Given the description of an element on the screen output the (x, y) to click on. 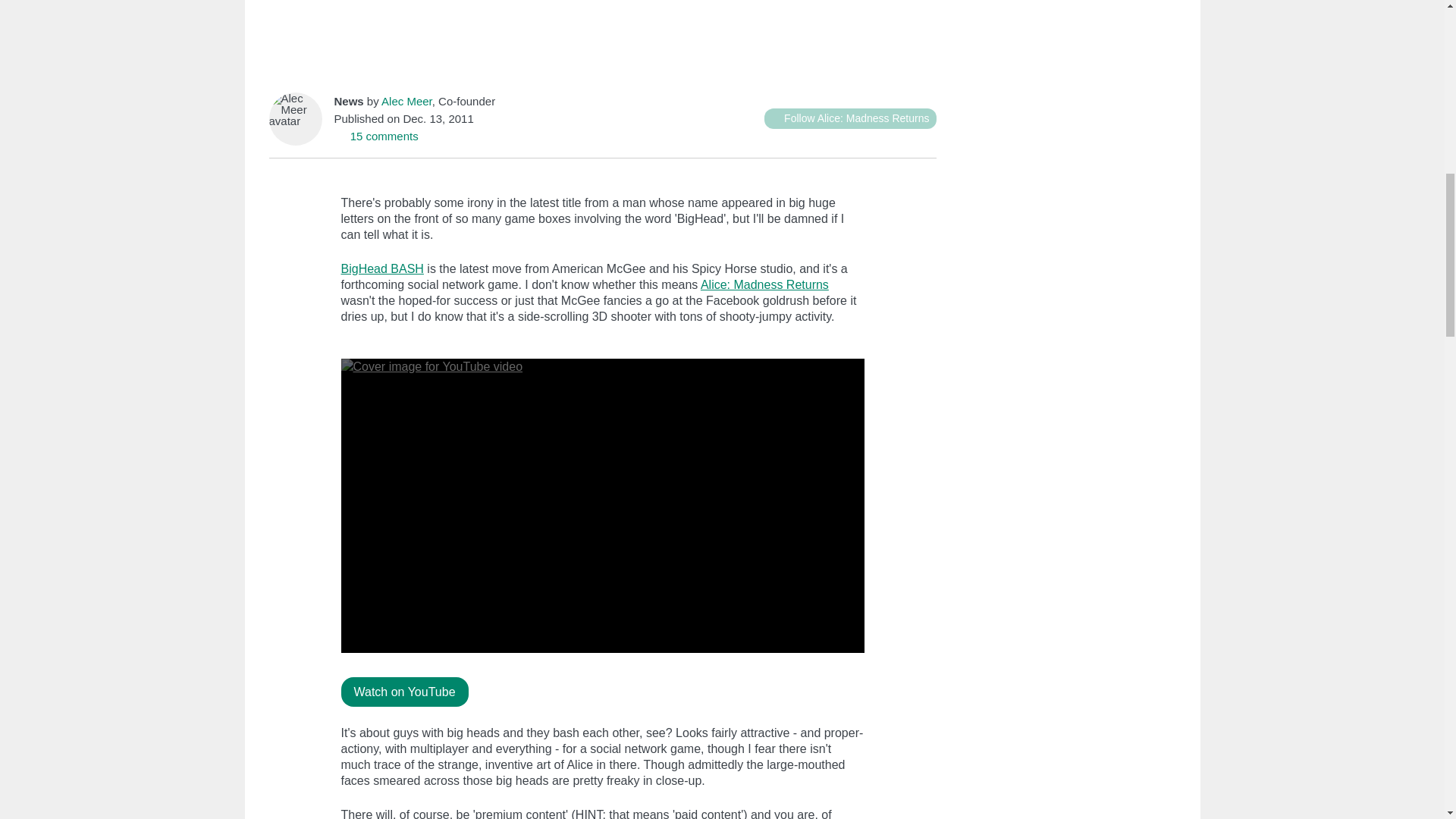
BigHead BASH (381, 268)
Alice: Madness Returns (764, 284)
15 comments (375, 135)
Watch on YouTube (404, 691)
Follow Alice: Madness Returns (850, 118)
Alec Meer (406, 101)
